Given the description of an element on the screen output the (x, y) to click on. 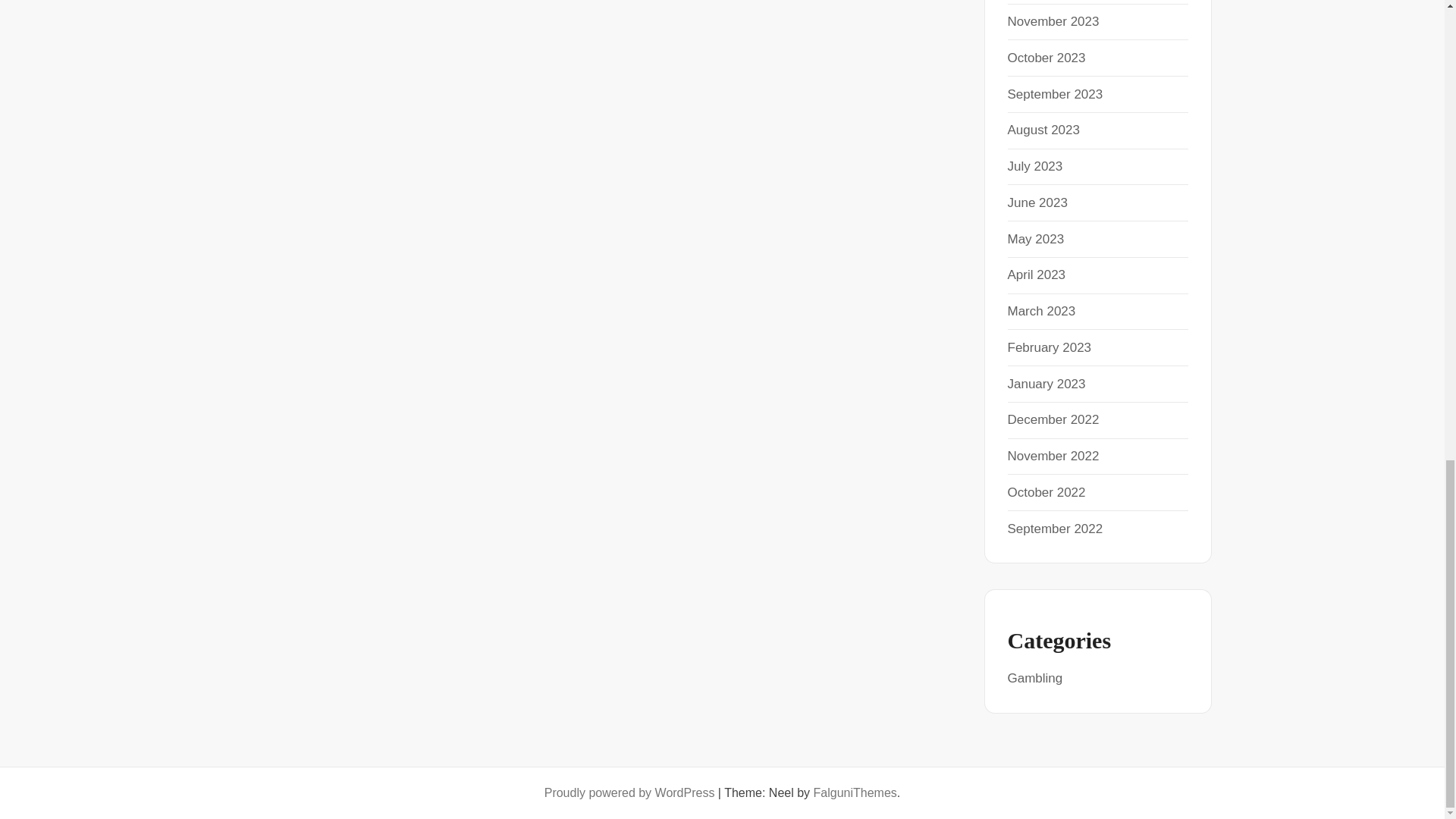
April 2023 (1036, 274)
November 2023 (1053, 21)
September 2023 (1054, 93)
October 2023 (1045, 57)
February 2023 (1048, 347)
June 2023 (1037, 202)
August 2023 (1042, 129)
March 2023 (1041, 310)
May 2023 (1035, 238)
July 2023 (1034, 165)
